Given the description of an element on the screen output the (x, y) to click on. 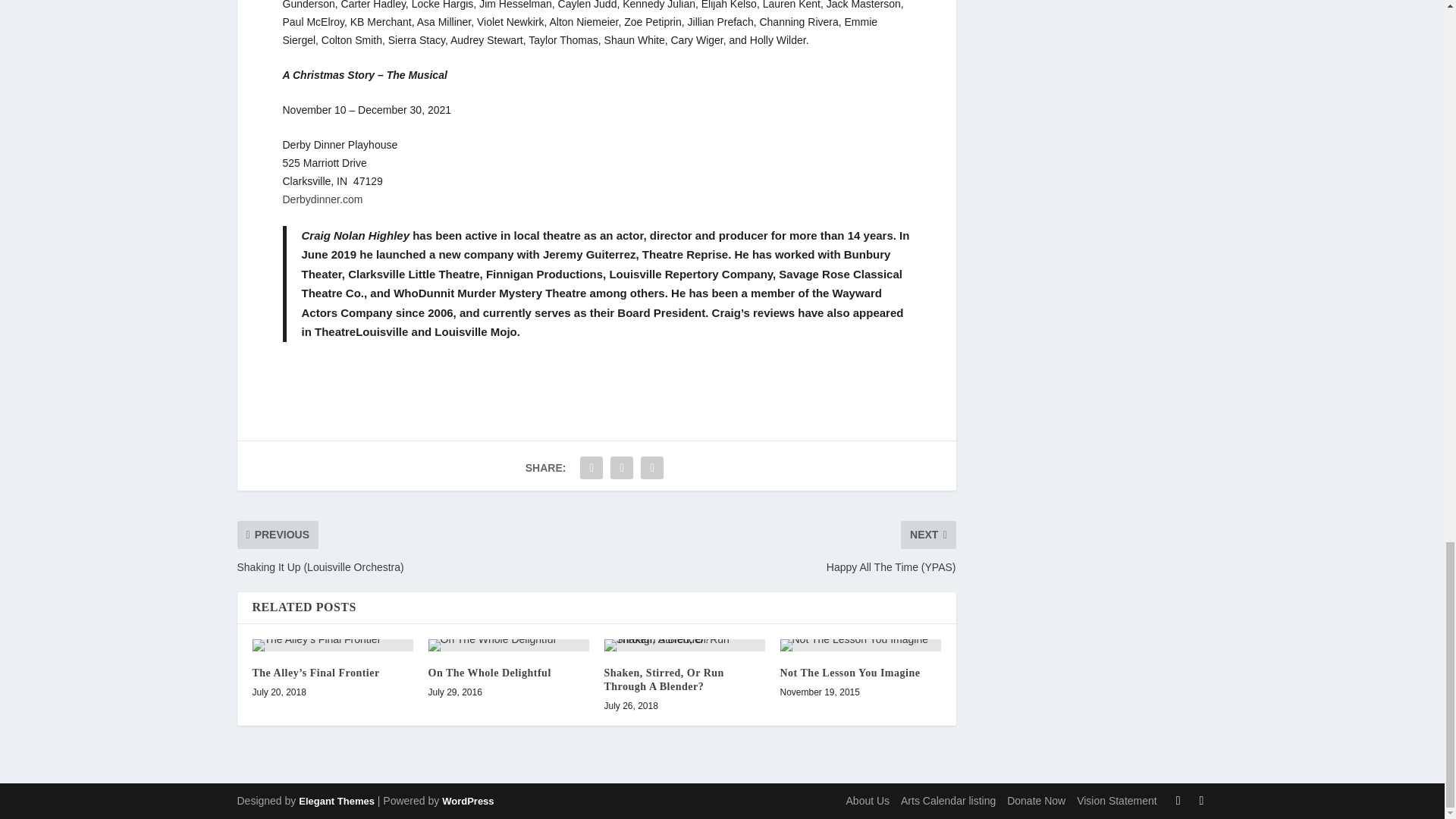
Shaken, Stirred, Or Run Through A Blender? (684, 645)
Premium WordPress Themes (336, 800)
Derbydinner.com (322, 199)
Not The Lesson You Imagine (859, 645)
On The Whole Delightful (508, 645)
